Given the description of an element on the screen output the (x, y) to click on. 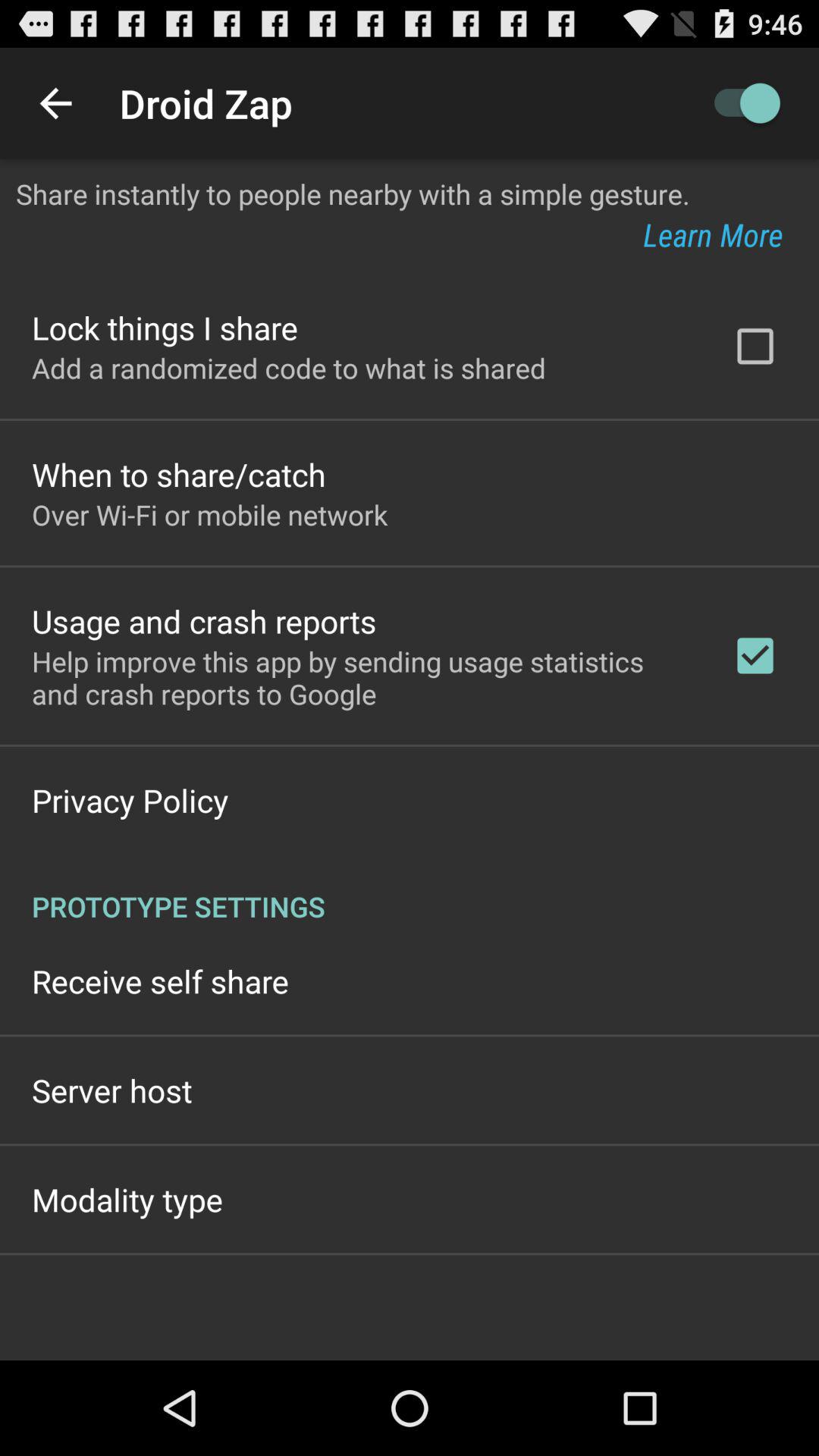
press help improve this icon (361, 677)
